Given the description of an element on the screen output the (x, y) to click on. 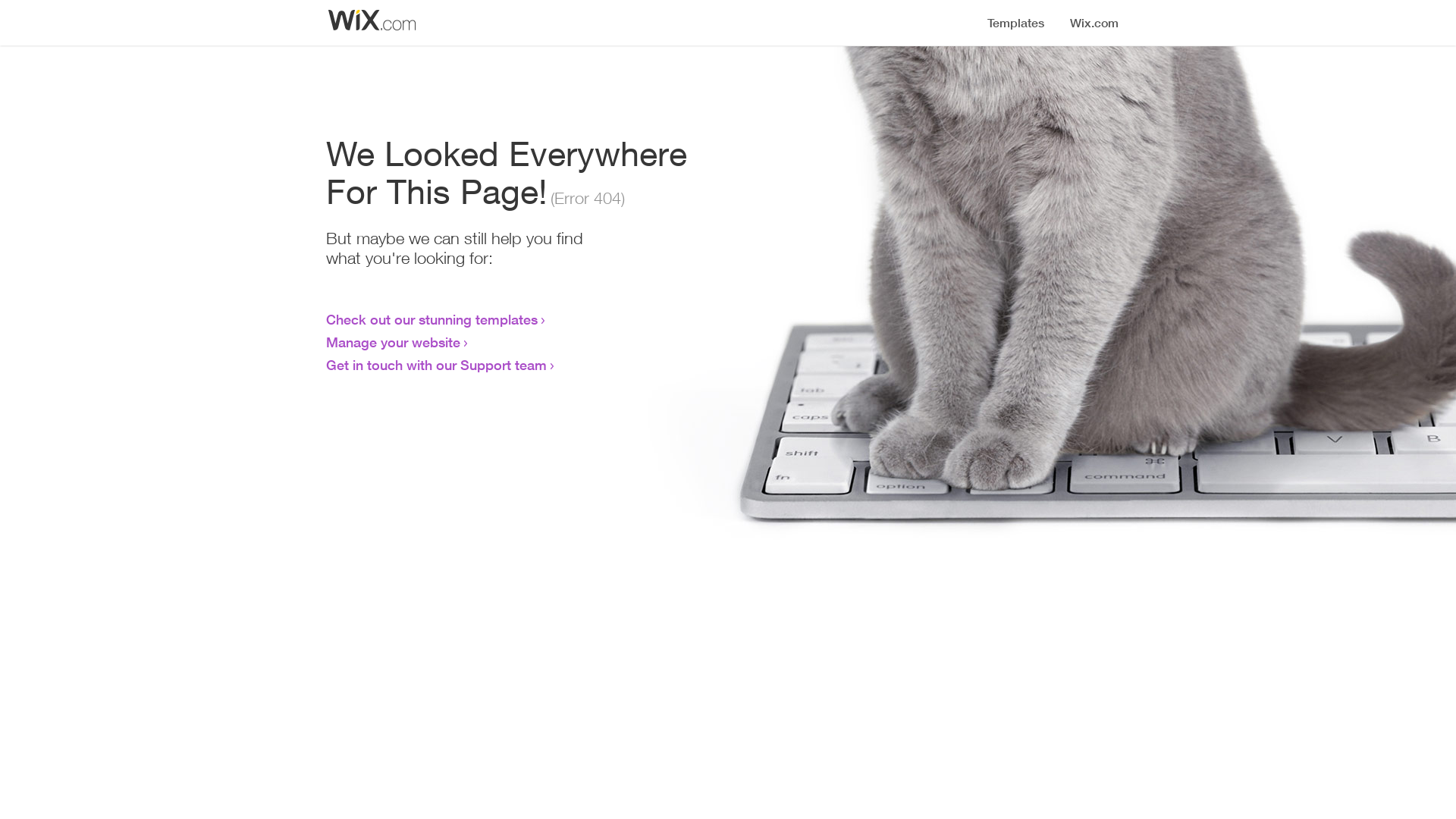
Manage your website Element type: text (393, 341)
Check out our stunning templates Element type: text (431, 318)
Get in touch with our Support team Element type: text (436, 364)
